Given the description of an element on the screen output the (x, y) to click on. 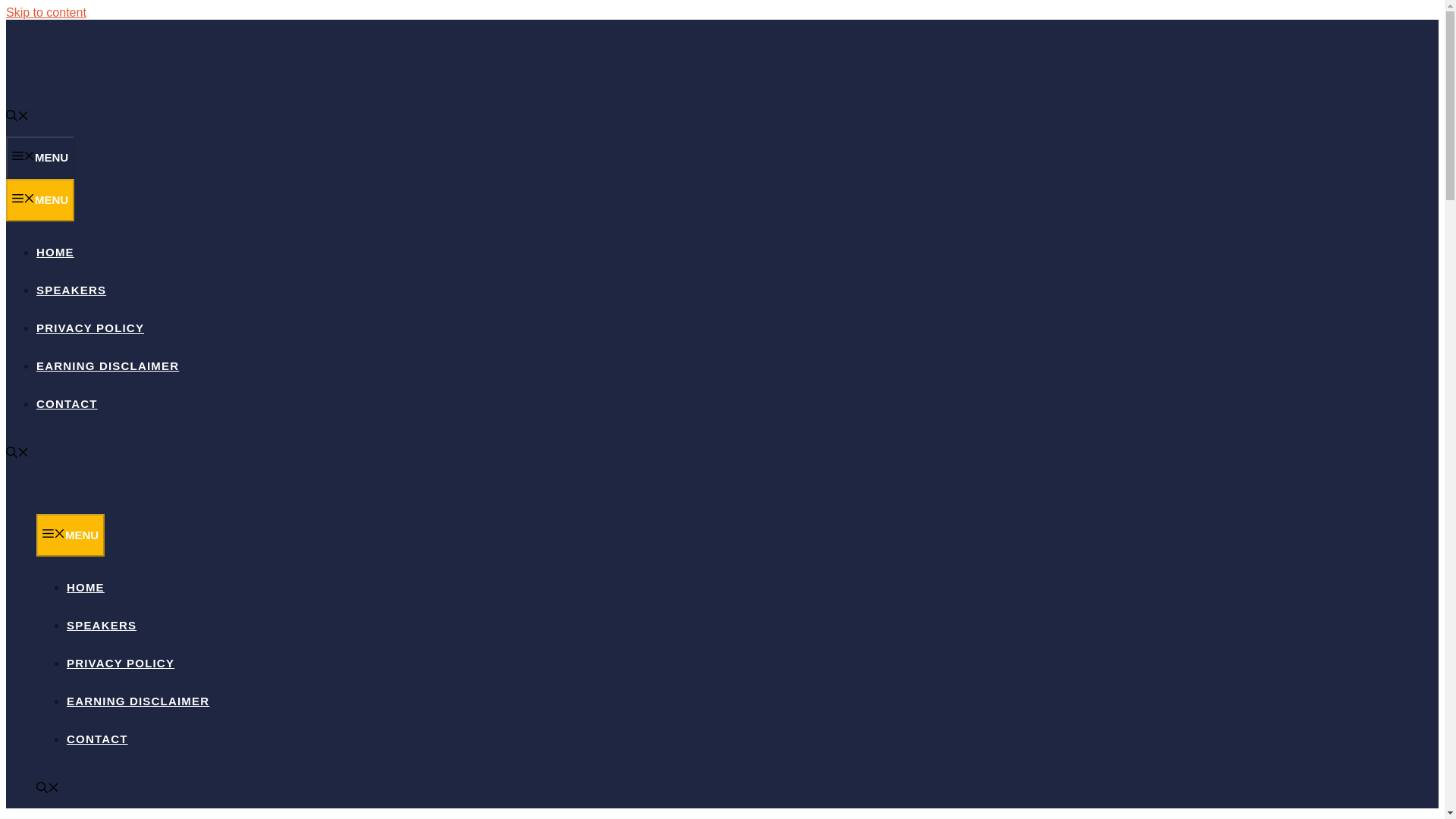
Skip to content (45, 11)
EARNING DISCLAIMER (137, 700)
MENU (39, 157)
EARNING DISCLAIMER (107, 365)
MENU (39, 200)
CONTACT (97, 738)
SPEAKERS (71, 289)
SPEAKERS (101, 625)
CONTACT (66, 403)
HOME (85, 586)
